Given the description of an element on the screen output the (x, y) to click on. 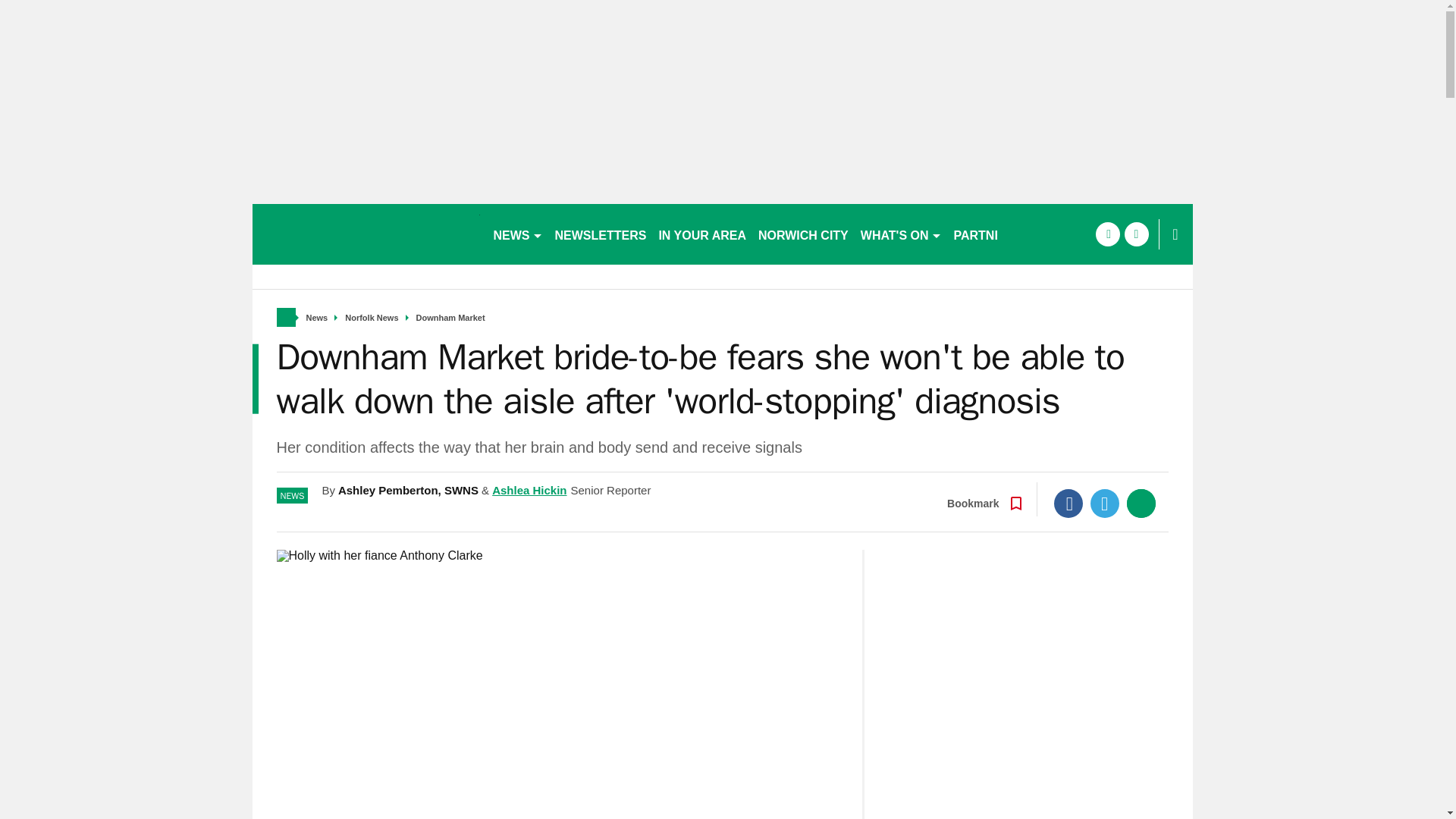
facebook (1106, 233)
norfolklive (365, 233)
PARTNER STORIES (1010, 233)
Facebook (1068, 502)
Twitter (1104, 502)
NEWSLETTERS (600, 233)
NEWS (517, 233)
WHAT'S ON (900, 233)
IN YOUR AREA (702, 233)
NORWICH CITY (803, 233)
twitter (1136, 233)
